Given the description of an element on the screen output the (x, y) to click on. 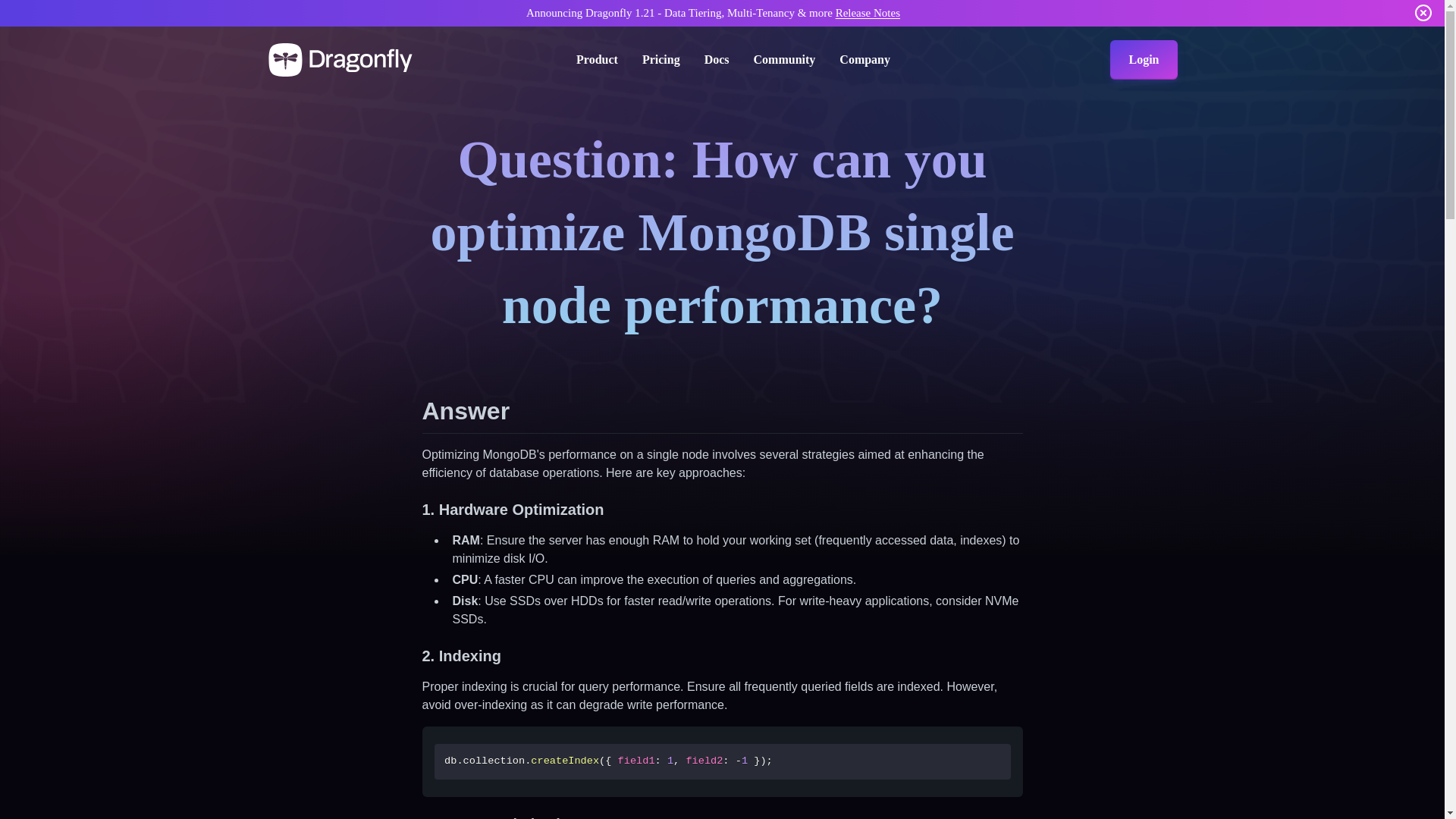
Company (864, 59)
Community (784, 59)
Pricing (660, 59)
Release Notes (867, 12)
Product (596, 59)
Login (1142, 59)
